Given the description of an element on the screen output the (x, y) to click on. 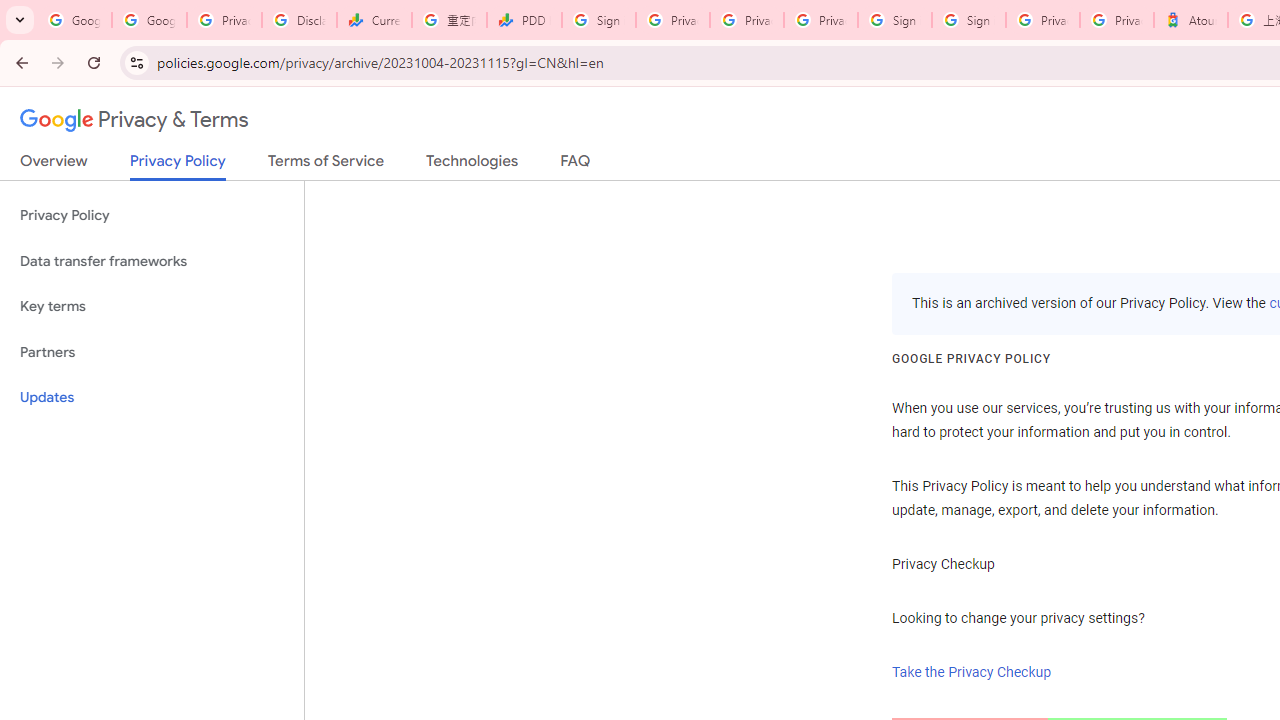
Atour Hotel - Google hotels (1190, 20)
